Given the description of an element on the screen output the (x, y) to click on. 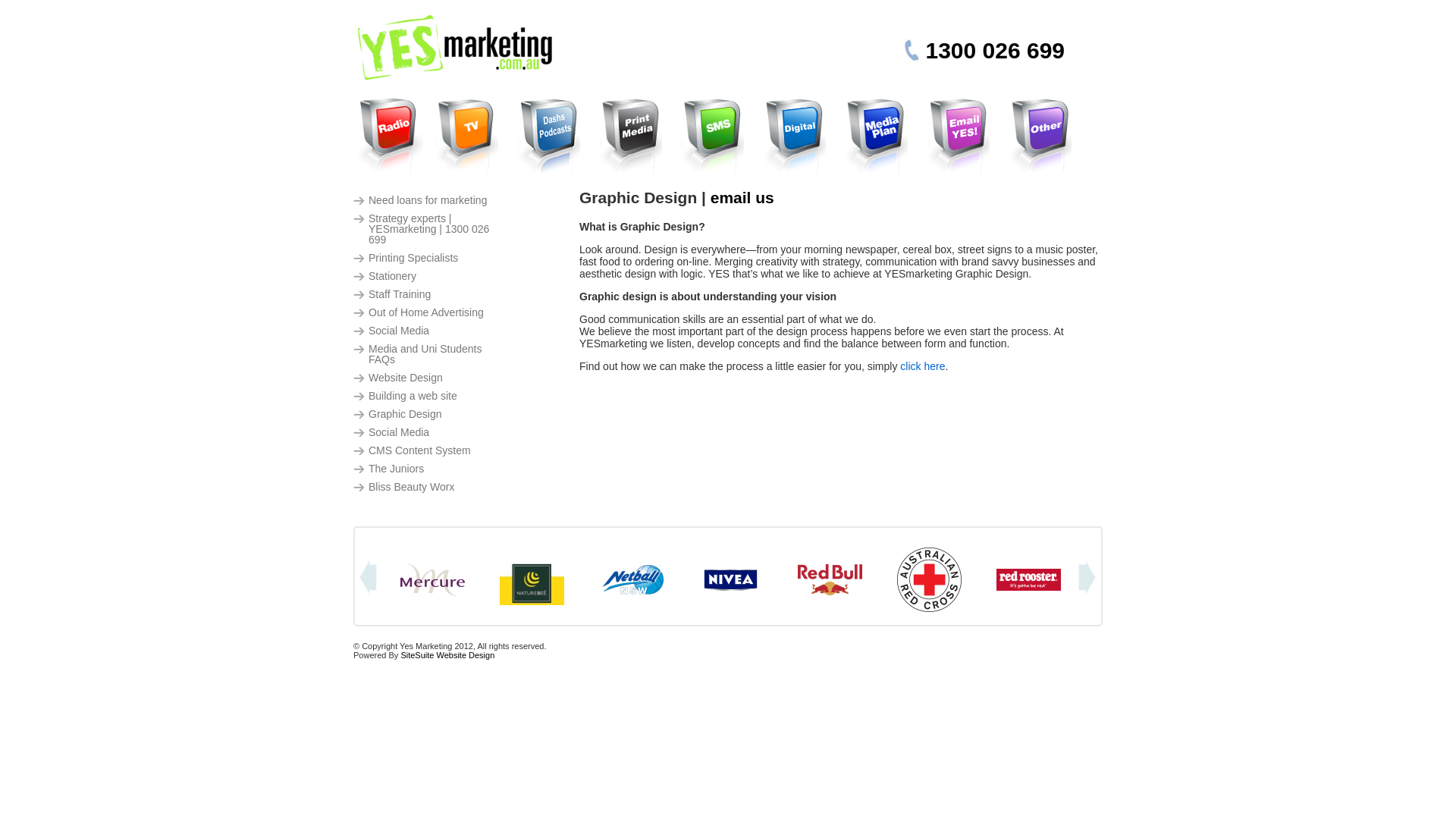
Out of Home Advertising (429, 312)
Building a web site (429, 395)
Staff Training (429, 294)
Bliss Beauty Worx (429, 486)
Website Design (429, 377)
email us (742, 197)
Social Media (429, 330)
Printing Specialists (429, 257)
The Juniors (429, 468)
CMS Content System (429, 450)
Social Media (429, 432)
Stationery (429, 275)
Graphic Design (429, 413)
Media and Uni Students FAQs (429, 353)
1300 026 699 (994, 50)
